Given the description of an element on the screen output the (x, y) to click on. 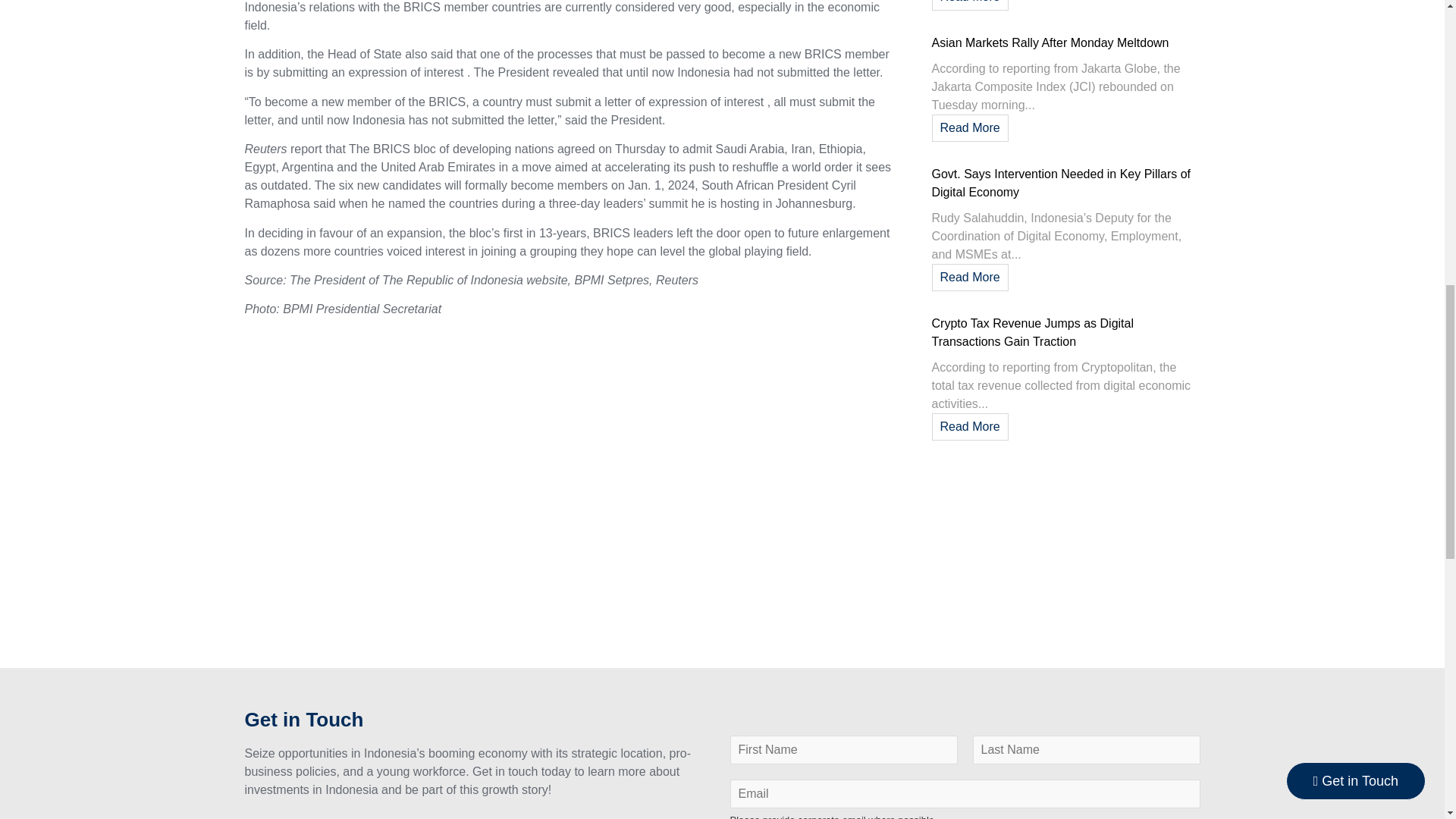
Advertisement (1064, 561)
Asian Markets Rally After Monday Meltdown (1050, 42)
